Given the description of an element on the screen output the (x, y) to click on. 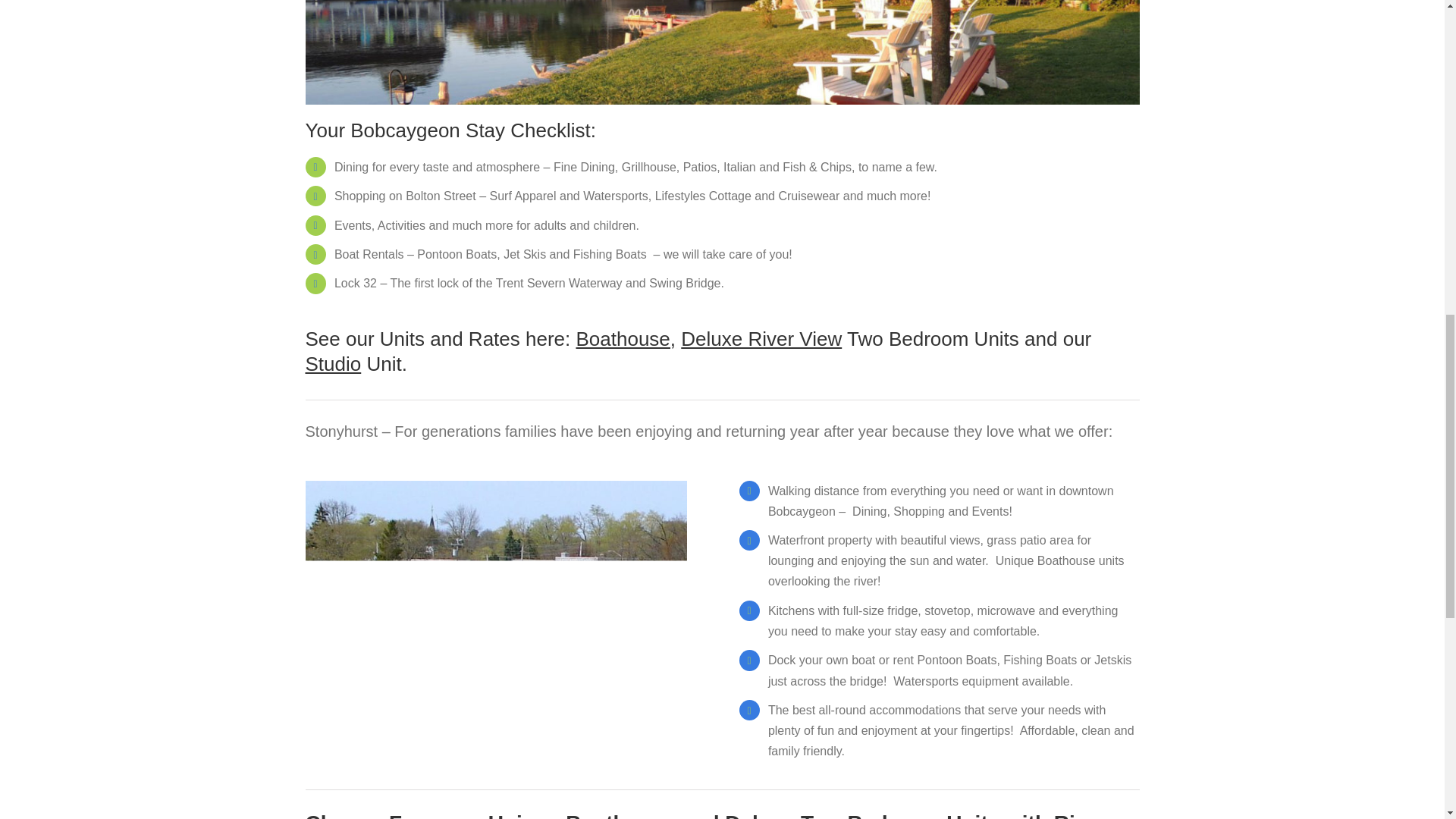
Deluxe River View (761, 338)
buckeye-view-stonyhurst-bobcaygeon (721, 52)
Unique Boathouse (581, 815)
Boathouse, (625, 338)
bobcaygeon small (494, 615)
Studio (332, 363)
